Given the description of an element on the screen output the (x, y) to click on. 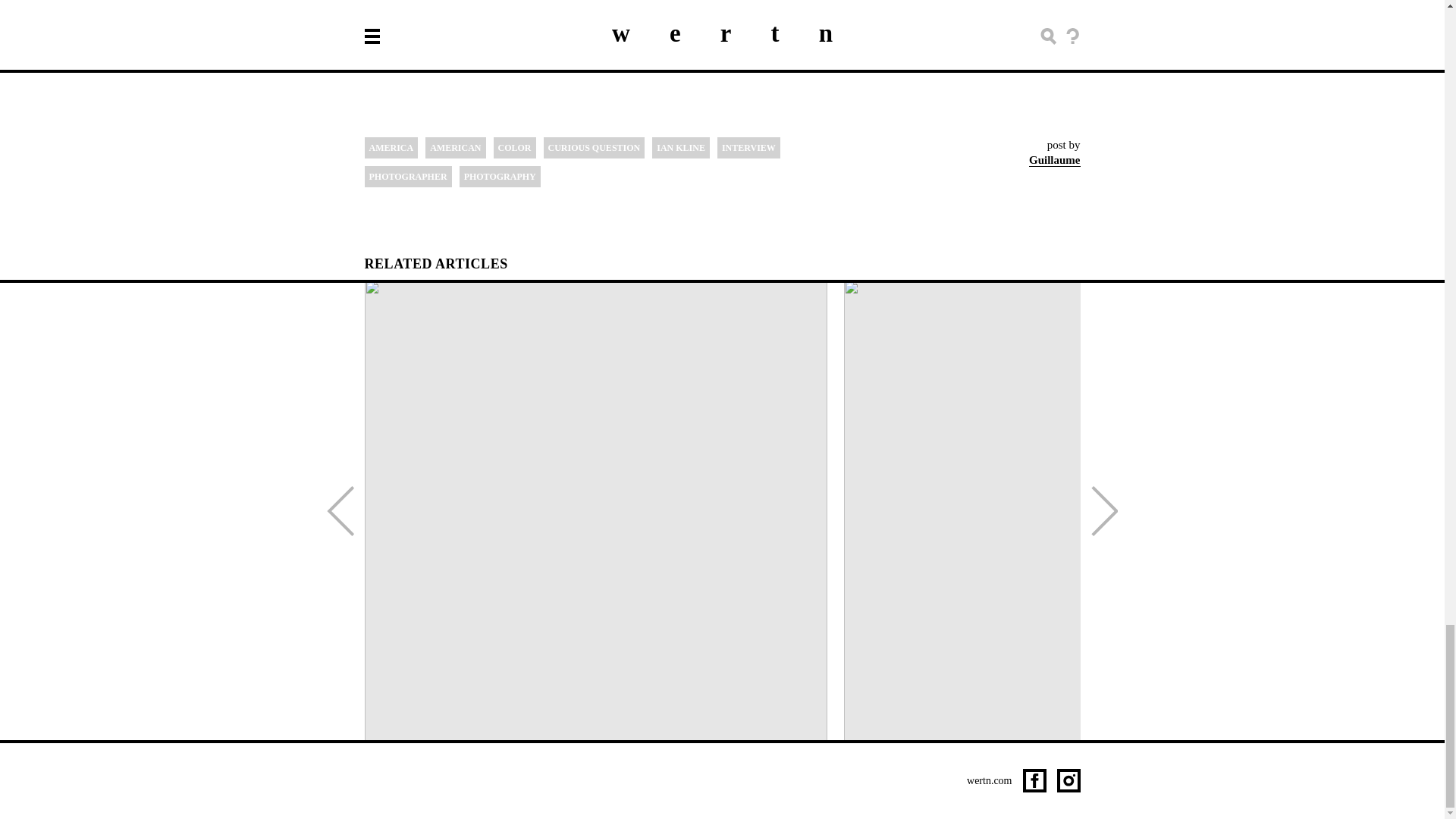
AMERICA (390, 147)
IAN KLINE (681, 147)
AMERICAN (454, 147)
CURIOUS QUESTION (594, 147)
INTERVIEW (748, 147)
PHOTOGRAPHY (500, 176)
Guillaume (1054, 159)
COLOR (514, 147)
PHOTOGRAPHER (407, 176)
